Given the description of an element on the screen output the (x, y) to click on. 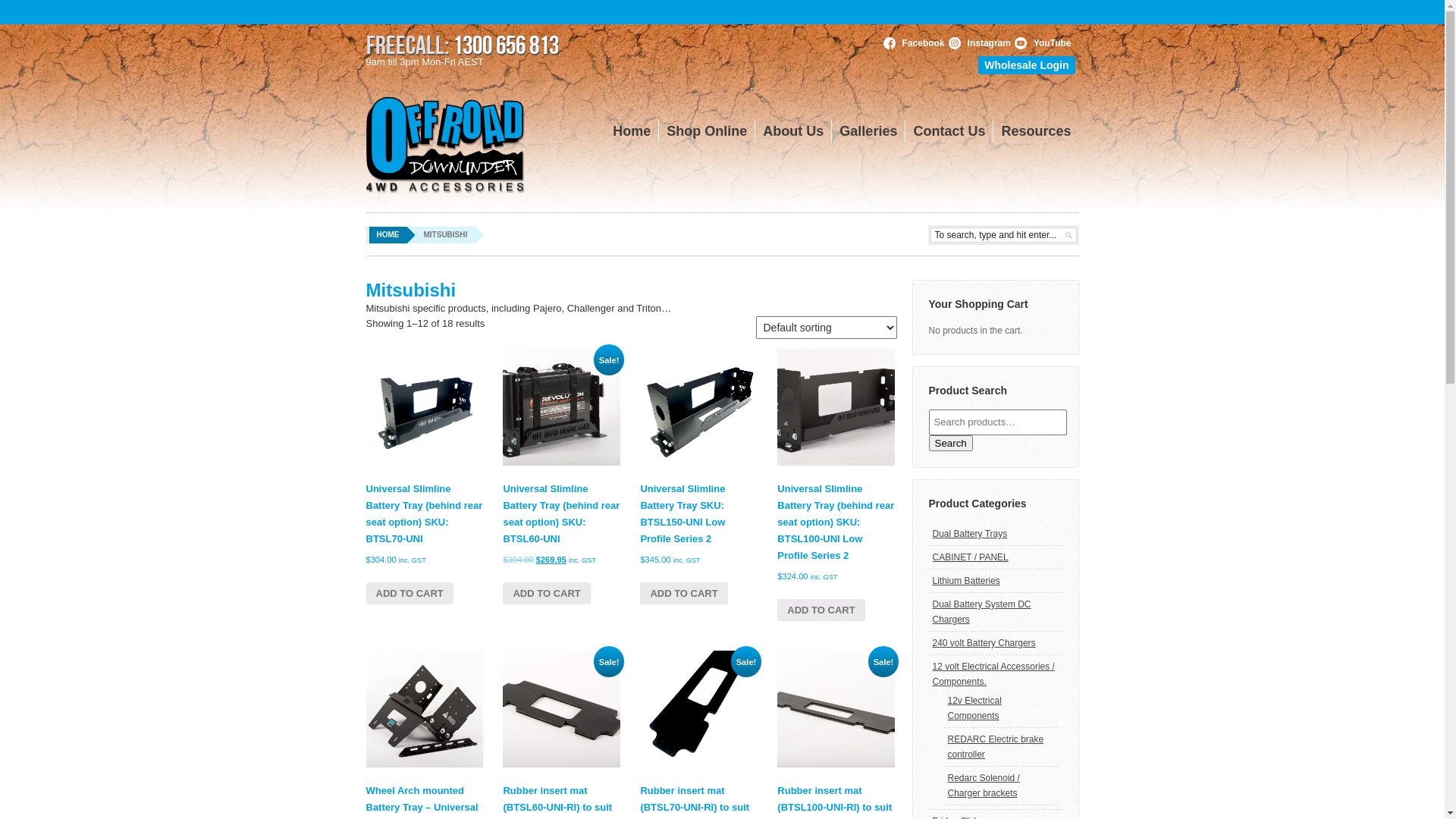
Dual Battery Trays Element type: text (969, 533)
Redarc Solenoid / Charger brackets Element type: text (983, 785)
About Us Element type: text (793, 130)
Wholesale Login Element type: text (1026, 65)
Search Element type: text (950, 443)
Resources Element type: text (1035, 130)
Home Element type: text (631, 130)
Instagram Element type: text (988, 43)
HOME Element type: text (391, 234)
Lithium Batteries Element type: text (966, 580)
Shop Online Element type: text (706, 130)
12v Electrical Components Element type: text (974, 708)
12 volt Electrical Accessories / Components. Element type: text (993, 674)
ADD TO CART Element type: text (545, 593)
ADD TO CART Element type: text (683, 593)
240 volt Battery Chargers Element type: text (983, 642)
CABINET / PANEL Element type: text (970, 557)
YouTube Element type: text (1052, 43)
Dual Battery System DC Chargers Element type: text (981, 611)
ADD TO CART Element type: text (408, 593)
Contact Us Element type: text (949, 130)
Galleries Element type: text (868, 130)
REDARC Electric brake controller Element type: text (995, 746)
Facebook Element type: text (923, 43)
ADD TO CART Element type: text (820, 610)
